Given the description of an element on the screen output the (x, y) to click on. 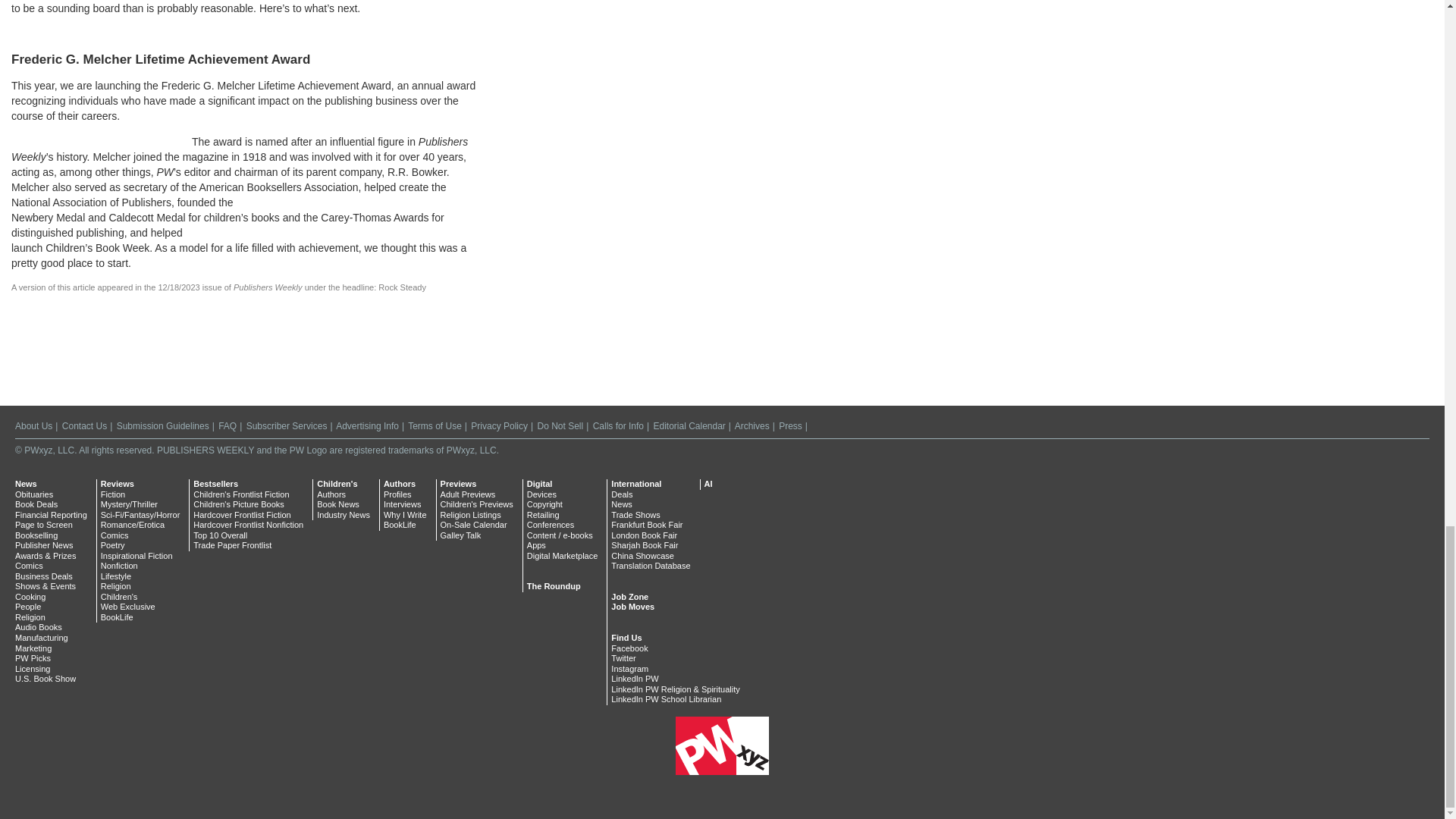
Subscriber Services (286, 425)
Submission Guidelines (162, 425)
Do Not Sell (560, 425)
Terms of Use (434, 425)
FAQ (226, 425)
Advertising Info (367, 425)
Contact Us (84, 425)
About Us (33, 425)
Privacy Policy (498, 425)
